Given the description of an element on the screen output the (x, y) to click on. 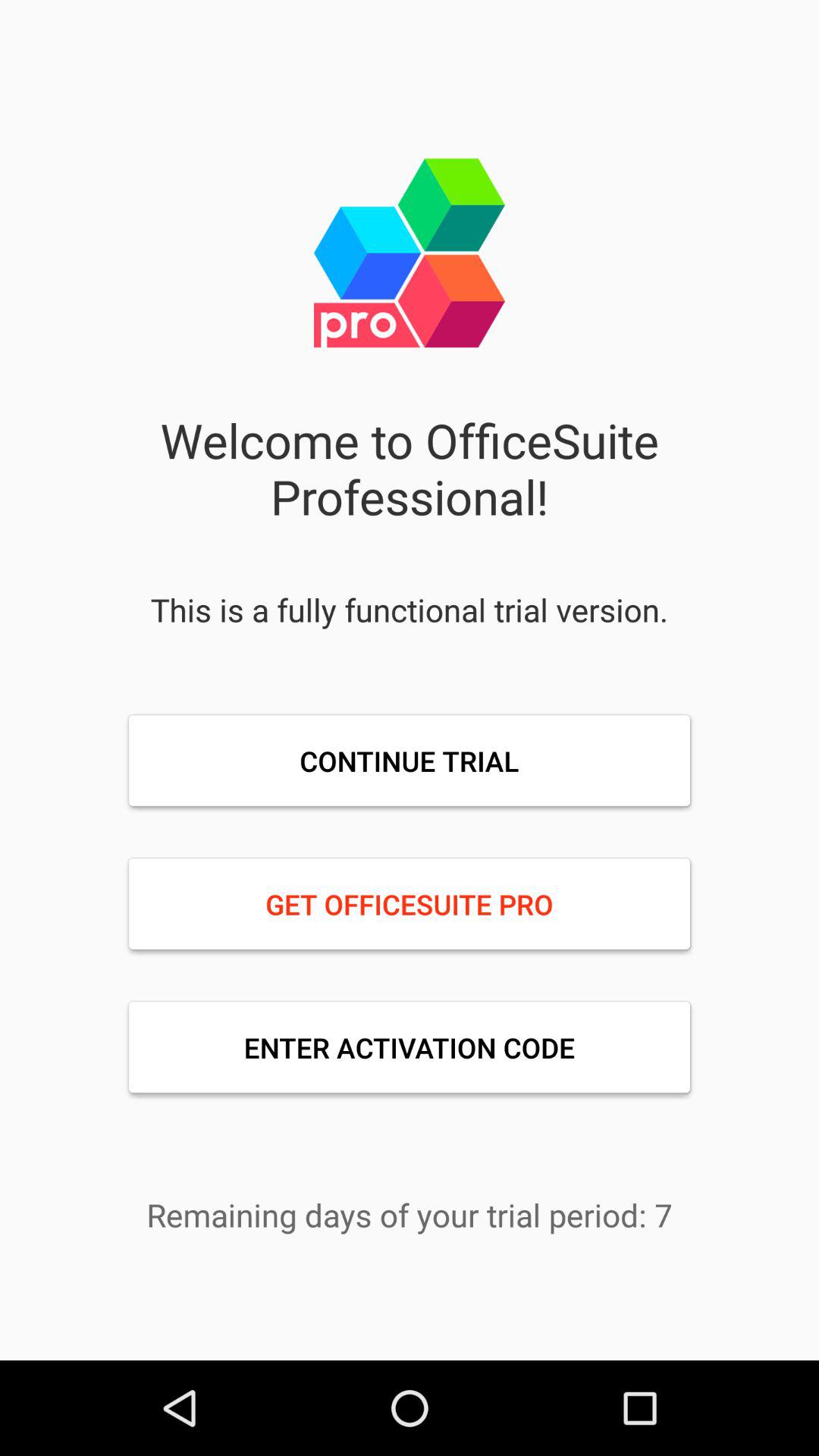
click item below get officesuite pro item (409, 1047)
